Given the description of an element on the screen output the (x, y) to click on. 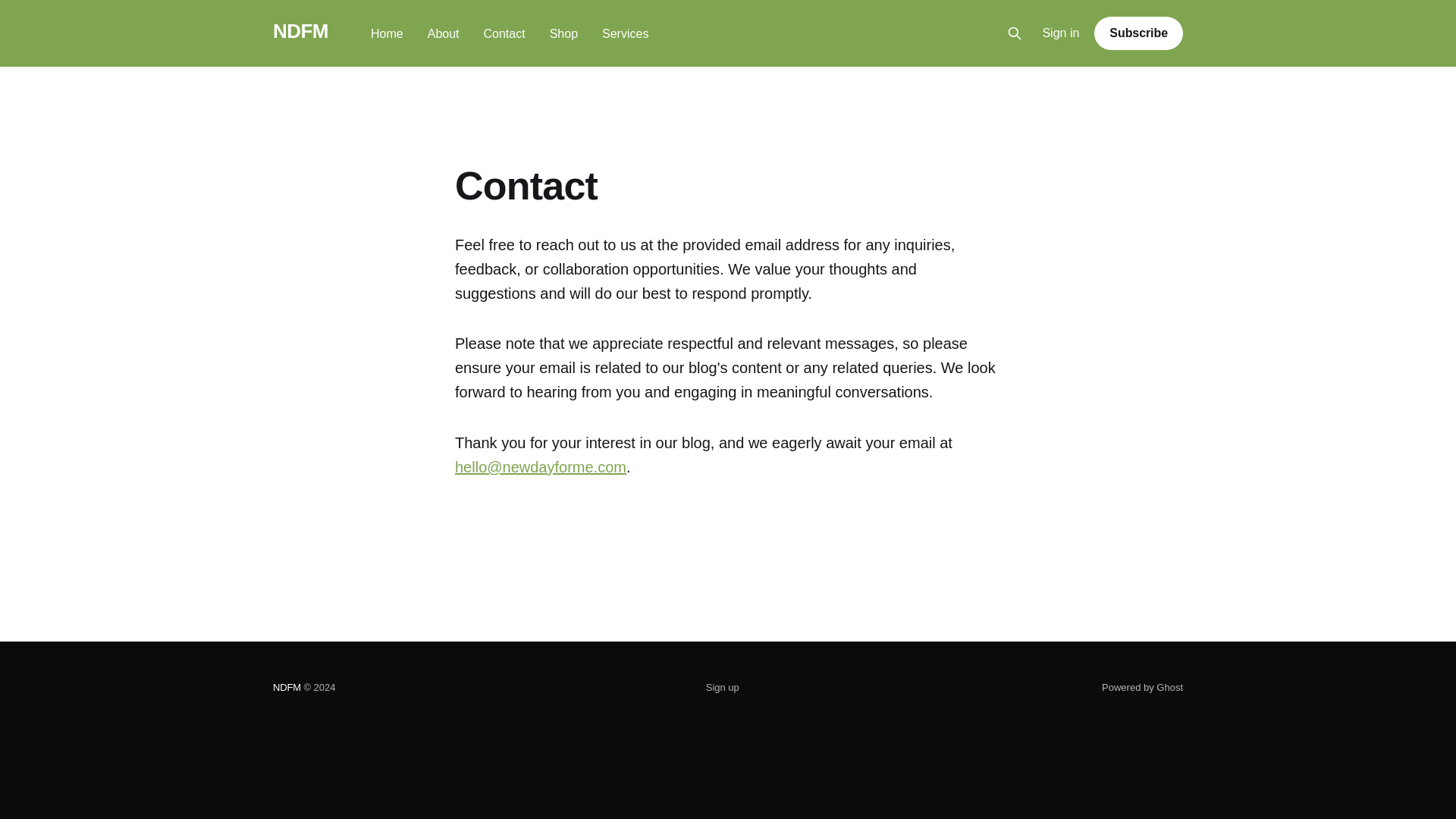
Contact (504, 33)
NDFM (287, 686)
Sign in (1060, 33)
Home (387, 33)
Subscribe (1138, 32)
Shop (564, 33)
NDFM (301, 31)
About (444, 33)
Powered by Ghost (1142, 686)
Services (624, 33)
Sign up (722, 687)
